Given the description of an element on the screen output the (x, y) to click on. 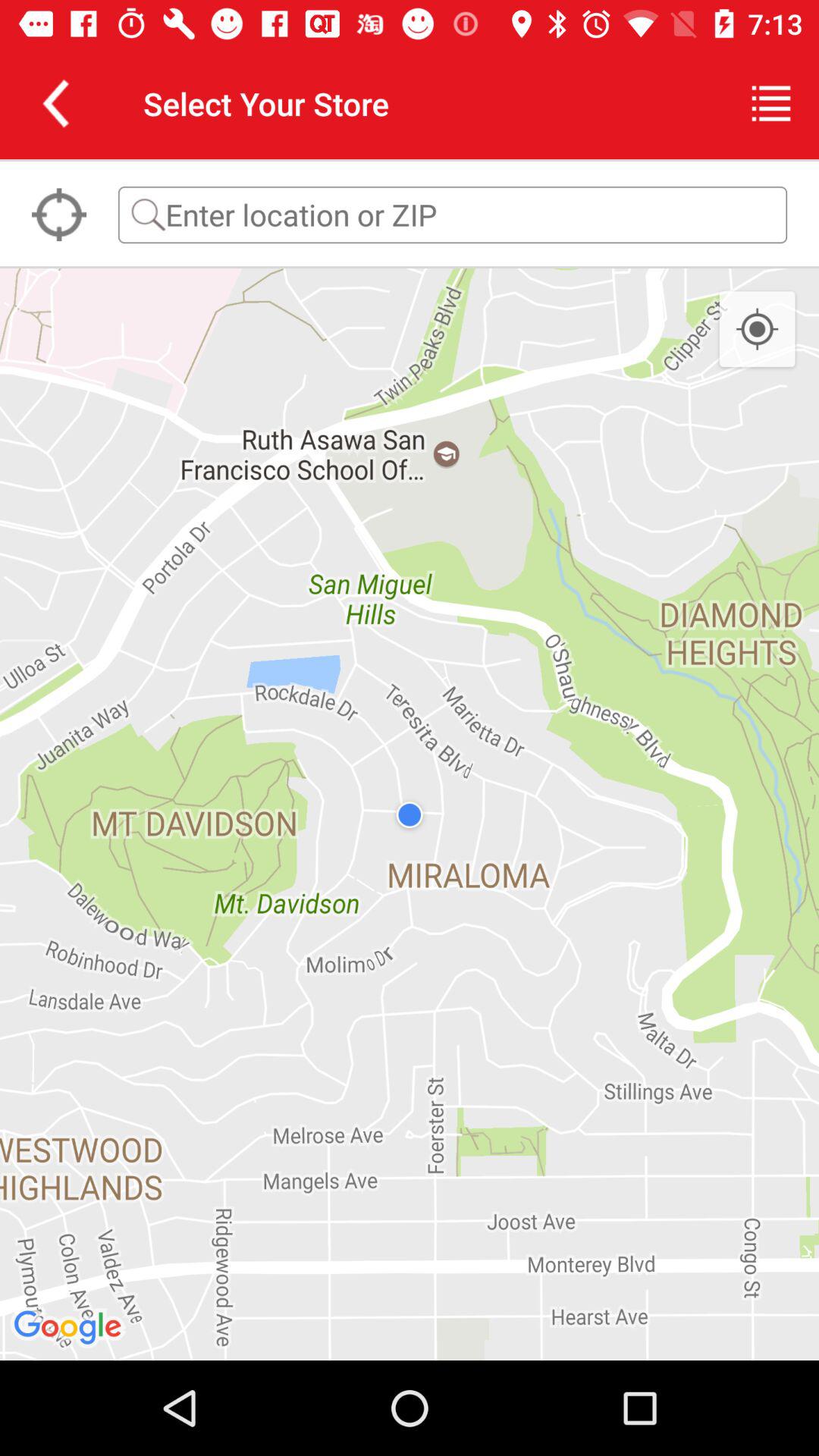
press the item to the left of the select your store (55, 103)
